Given the description of an element on the screen output the (x, y) to click on. 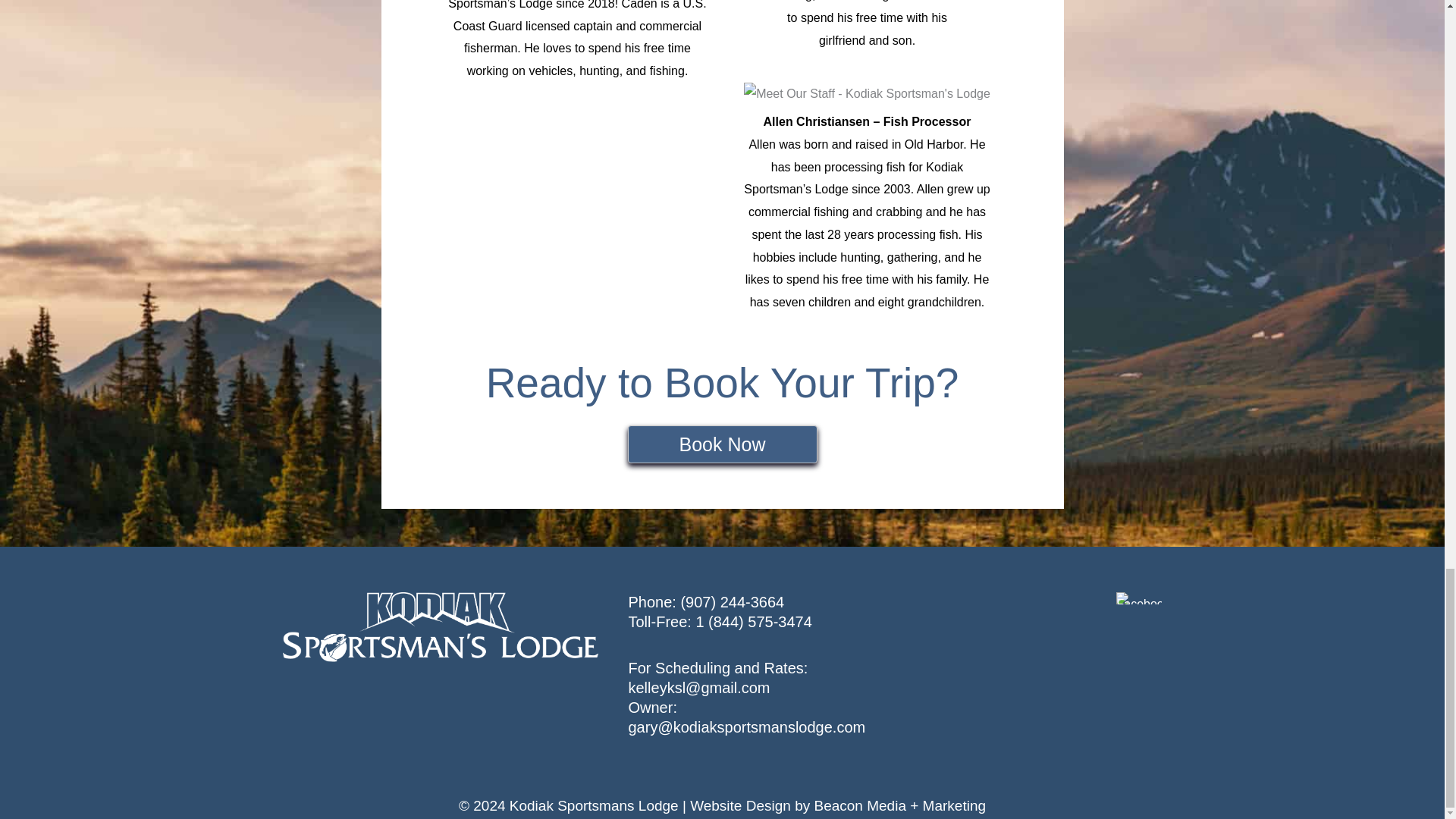
Kodiak Sportsmans Lodge Logo white (439, 626)
Book Now (721, 444)
Facebook Icon-1 (1138, 598)
